Given the description of an element on the screen output the (x, y) to click on. 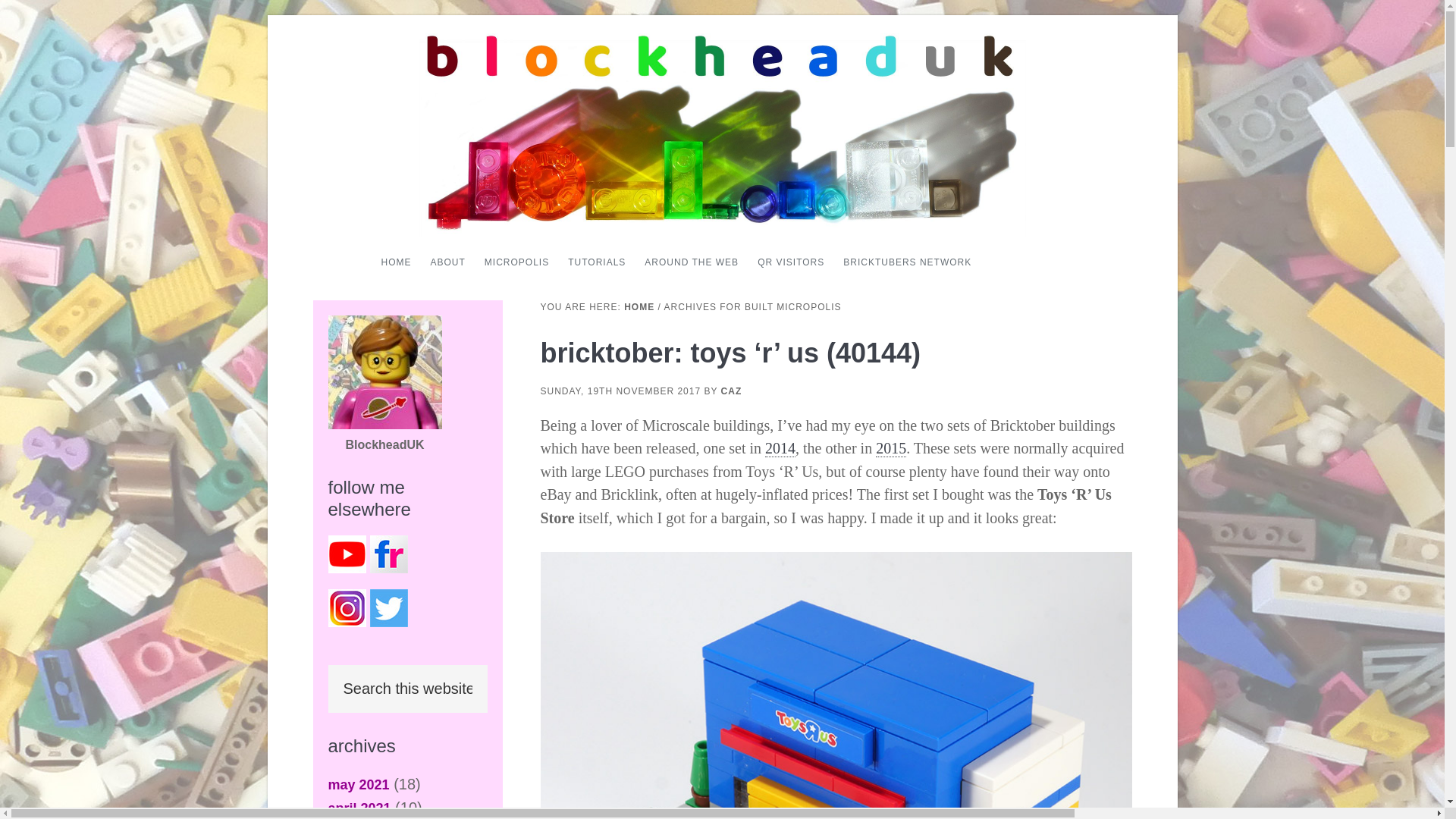
CAZ (731, 390)
BRICKTUBERS NETWORK (907, 261)
BlockheadUK (384, 424)
HOME (395, 261)
QR VISITORS (790, 261)
2015 (890, 448)
AROUND THE WEB (691, 261)
ABOUT (447, 261)
BLOCKHEADUK (575, 186)
2014 (779, 448)
